Given the description of an element on the screen output the (x, y) to click on. 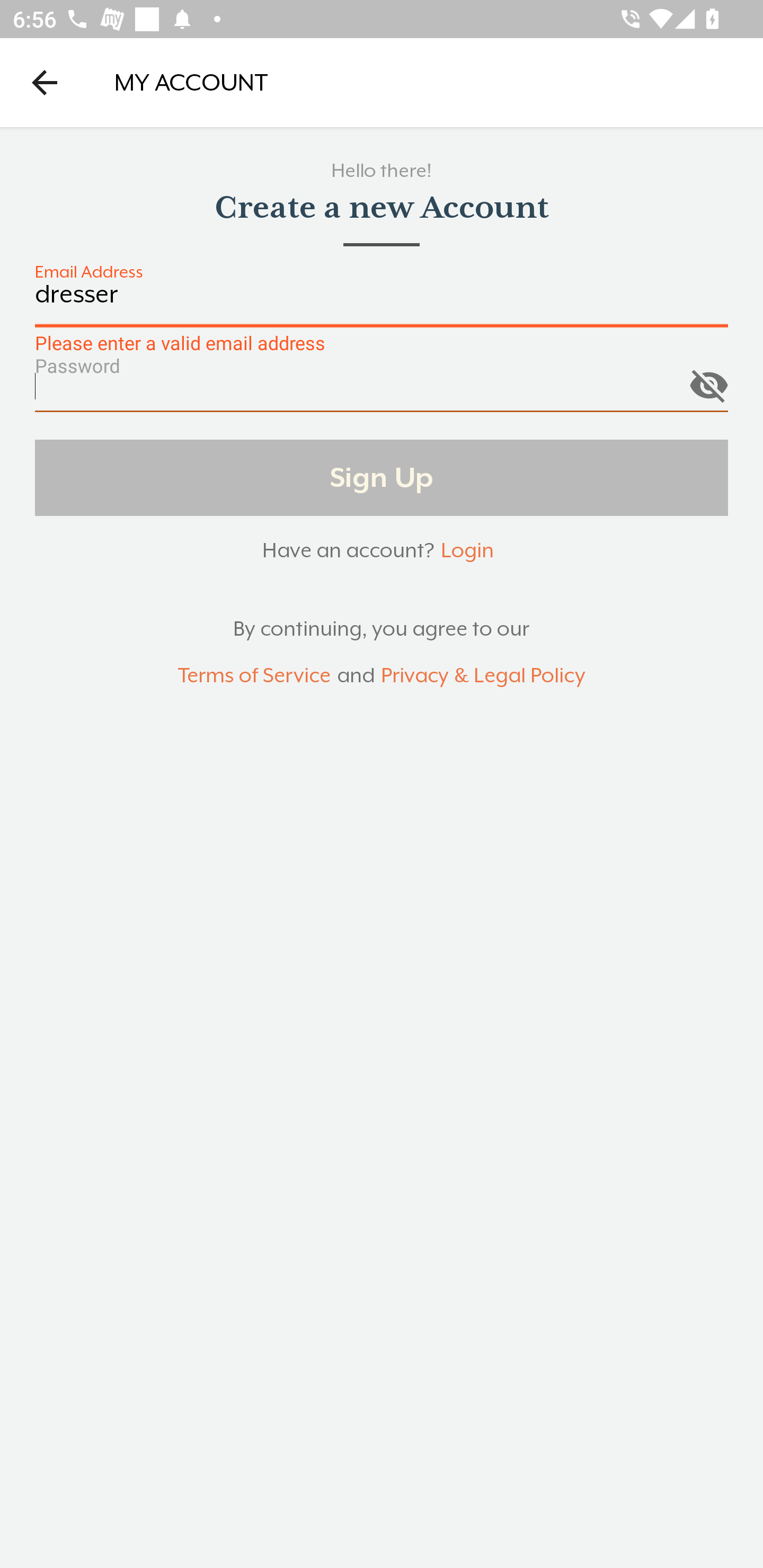
Navigate up (44, 82)
dresser (381, 304)
 (708, 381)
Password (381, 393)
Sign Up (381, 477)
Login (467, 550)
Terms of Service (253, 675)
Privacy & Legal Policy (483, 675)
